Given the description of an element on the screen output the (x, y) to click on. 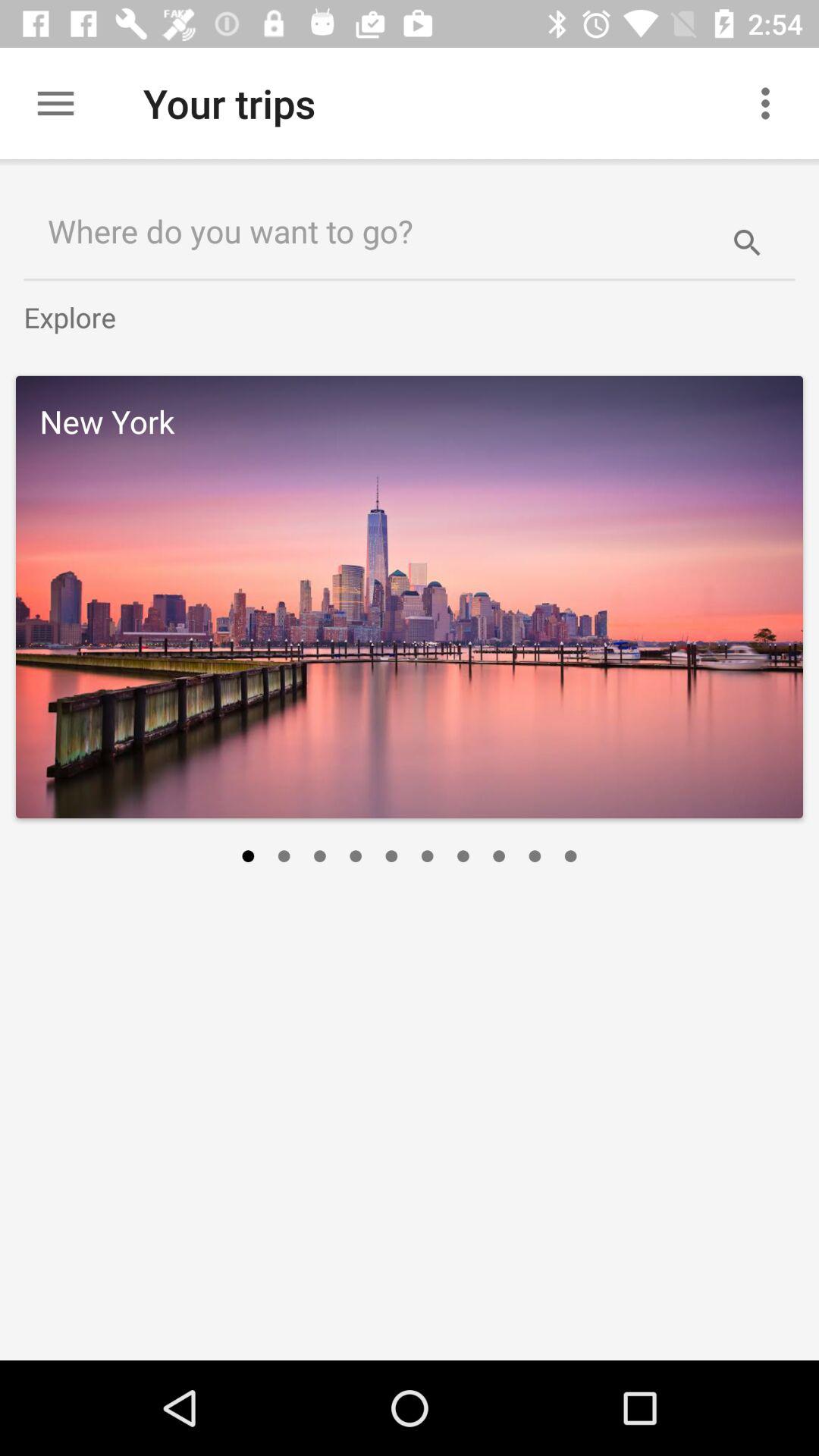
turn on the item below explore item (409, 596)
